Given the description of an element on the screen output the (x, y) to click on. 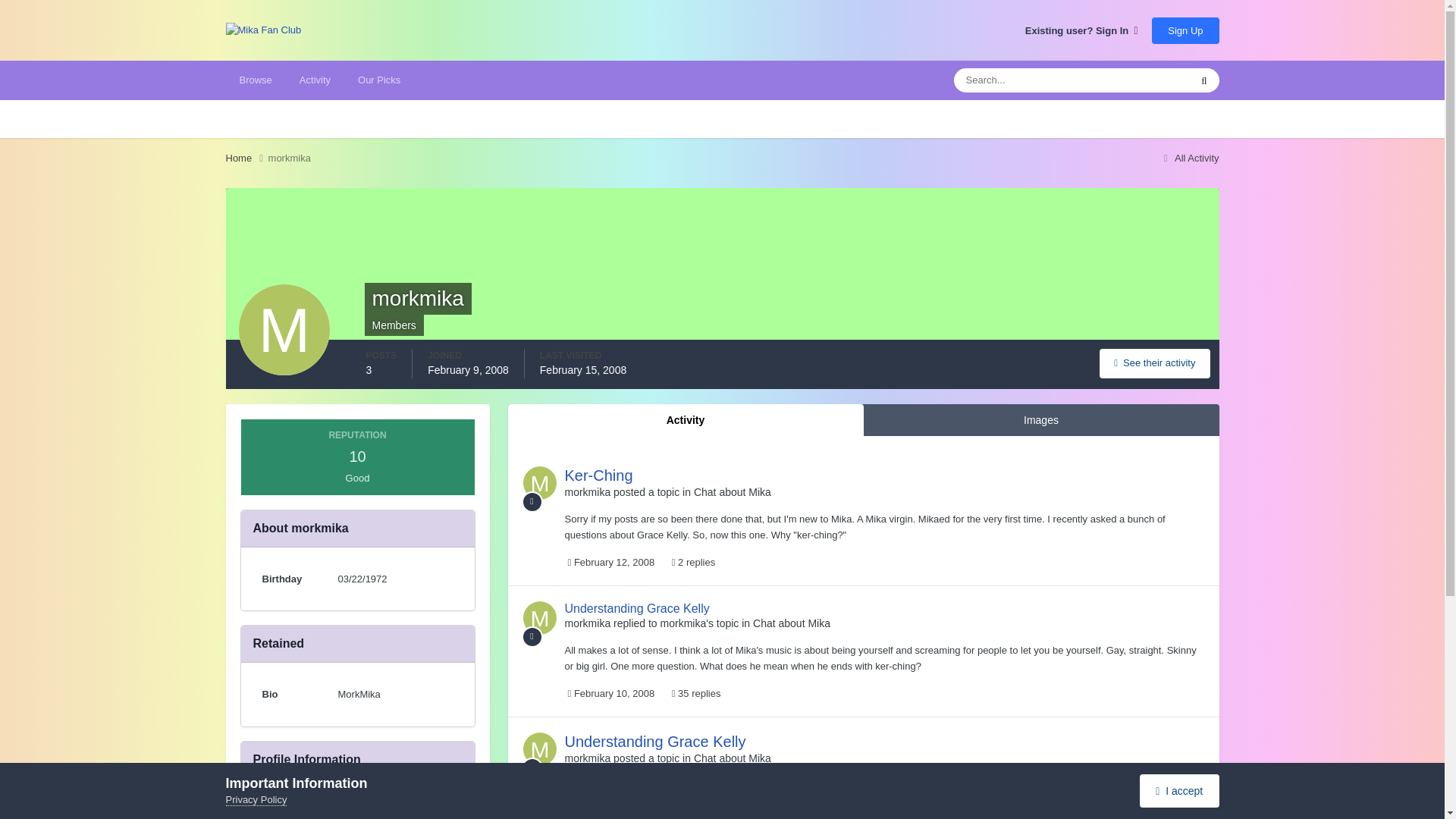
Go to morkmika's profile (587, 491)
Post (531, 637)
Home (246, 158)
Ker-Ching (597, 475)
Our Picks (378, 79)
Go to morkmika's profile (587, 623)
Topic (531, 502)
Go to morkmika's profile (587, 758)
Activity (314, 79)
Go to morkmika's profile (539, 482)
Go to morkmika's profile (539, 748)
Sign Up (1184, 29)
Images (1040, 419)
morkmika's Content (1154, 363)
Home (246, 158)
